Given the description of an element on the screen output the (x, y) to click on. 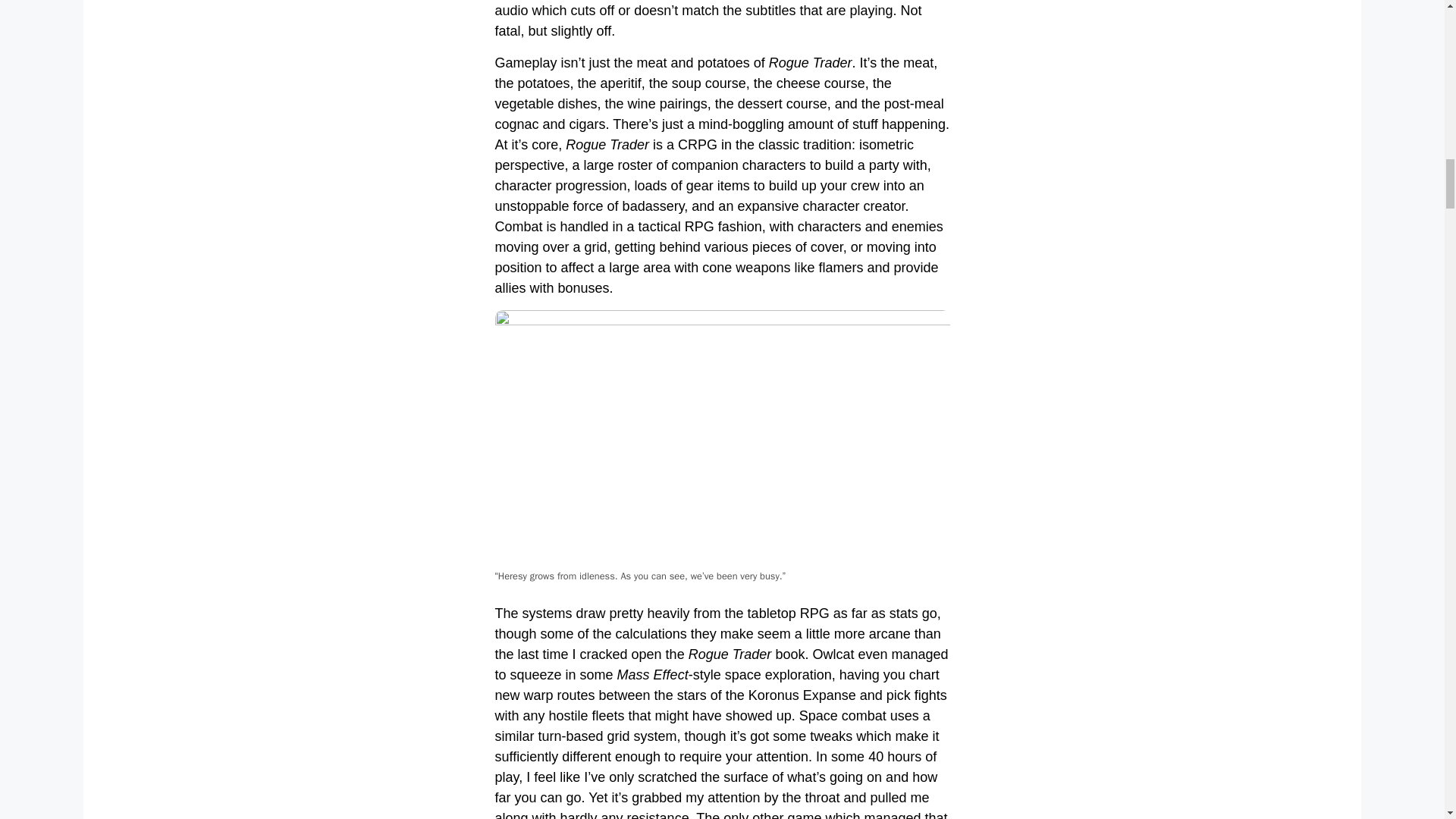
RogueTrader07 (722, 438)
